Given the description of an element on the screen output the (x, y) to click on. 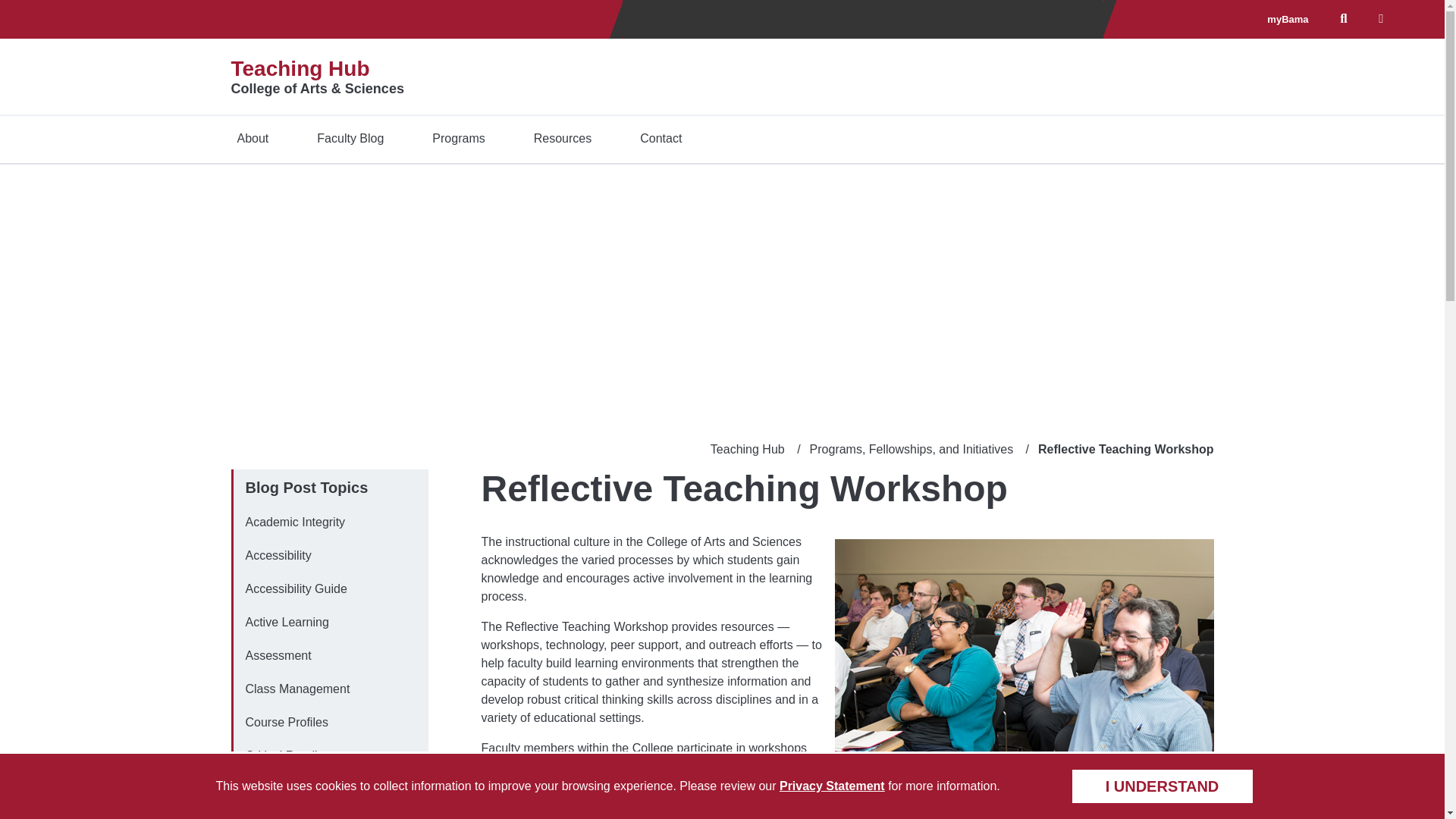
Faculty Blog (350, 138)
About (252, 138)
Faculty Blog (350, 138)
Where Legends Are Made (862, 19)
Programs (458, 138)
About (252, 138)
Teaching Hub (299, 68)
myBama (1287, 19)
The University of Alabama (260, 19)
